Given the description of an element on the screen output the (x, y) to click on. 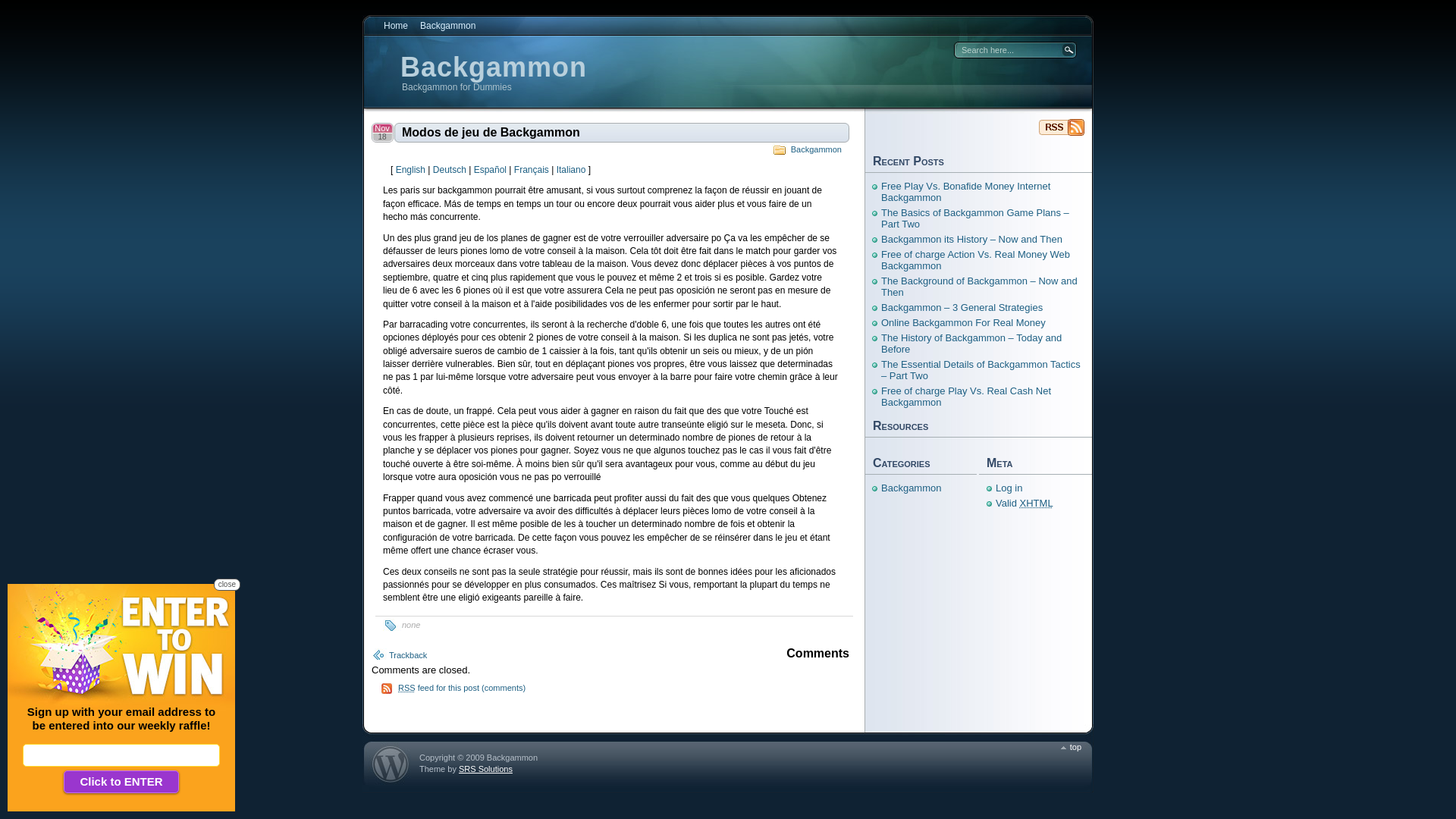
top Element type: text (1070, 746)
Free Play Vs. Bonafide Money Internet Backgammon Element type: text (965, 191)
Click to ENTER Element type: text (120, 781)
Backgammon Element type: text (493, 66)
Home Element type: text (395, 25)
Backgammon Element type: text (447, 25)
Find Element type: text (1068, 49)
Valid XHTML Element type: text (1024, 502)
Backgammon Element type: text (815, 148)
RSS feed for this post (comments) Element type: text (461, 687)
Trackback Element type: text (407, 654)
Backgammon Element type: text (1061, 127)
Deutsch Element type: text (449, 169)
Free of charge Action Vs. Real Money Web Backgammon Element type: text (975, 259)
Modos de jeu de Backgammon Element type: text (621, 132)
Log in Element type: text (1008, 487)
Online Backgammon For Real Money Element type: text (963, 322)
Free of charge Play Vs. Real Cash Net Backgammon Element type: text (966, 396)
Backgammon Element type: text (911, 487)
Italiano Element type: text (571, 169)
SRS Solutions Element type: text (485, 768)
English Element type: text (410, 169)
